Given the description of an element on the screen output the (x, y) to click on. 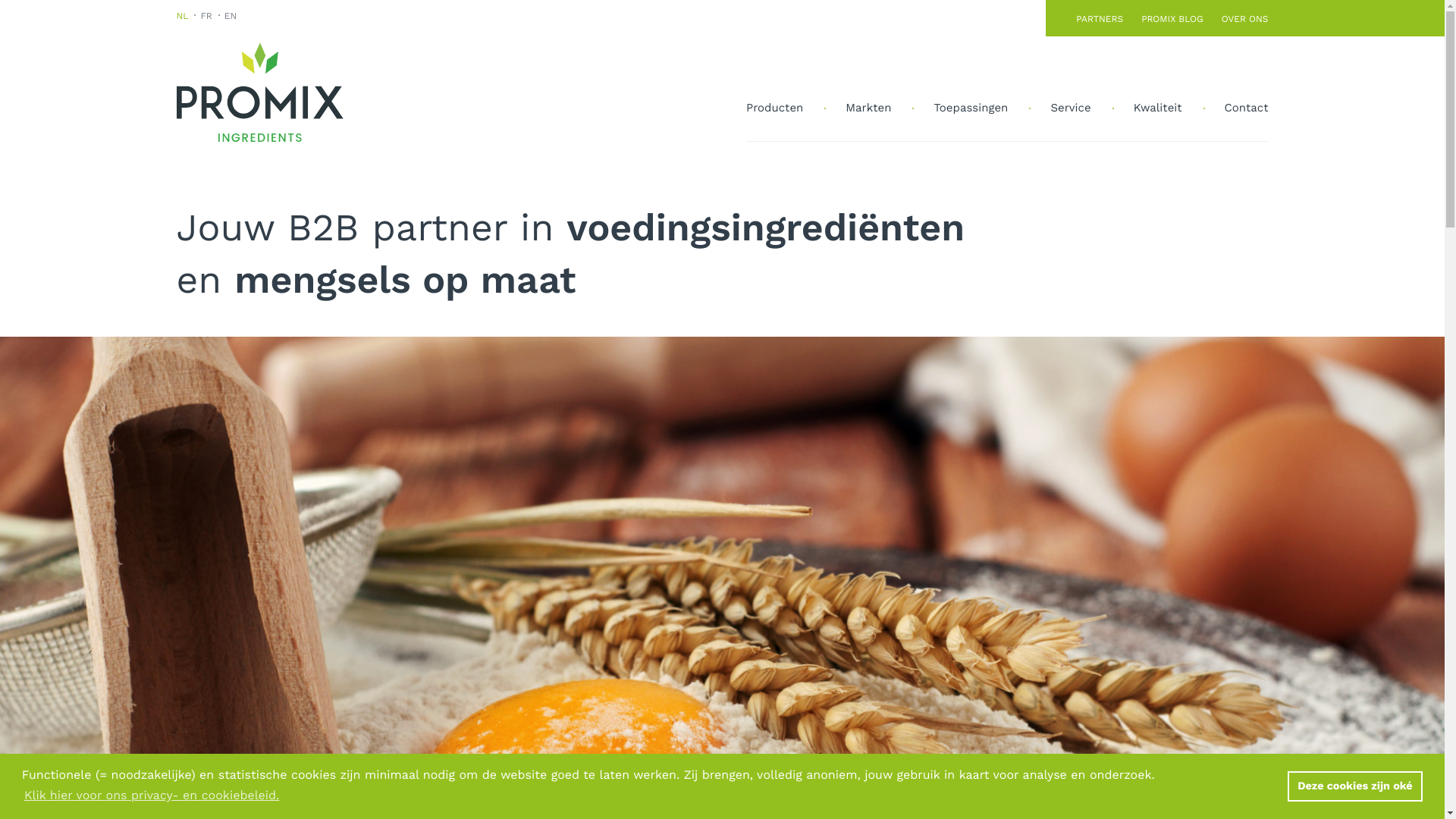
PROMIX BLOG Element type: text (1172, 18)
Markten Element type: text (868, 108)
OVER ONS Element type: text (1240, 18)
Toepassingen Element type: text (970, 108)
FR Element type: text (205, 15)
Producten Element type: text (785, 108)
NL Element type: text (184, 15)
Kwaliteit Element type: text (1157, 108)
EN Element type: text (230, 15)
PARTNERS Element type: text (1099, 18)
Service Element type: text (1070, 108)
Klik hier voor ons privacy- en cookiebeleid. Element type: text (151, 795)
nl Element type: hover (258, 91)
Contact Element type: text (1235, 108)
